Given the description of an element on the screen output the (x, y) to click on. 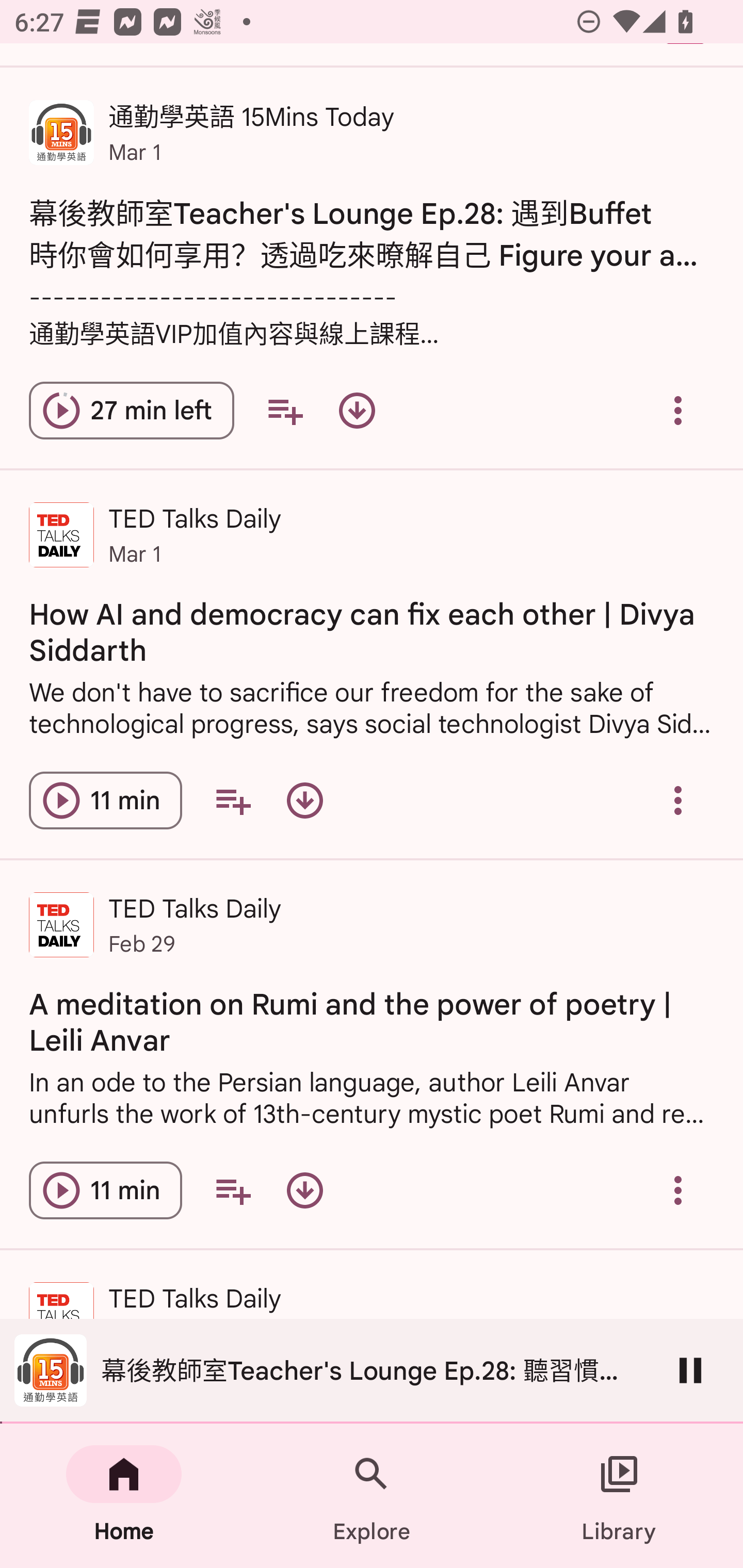
Add to your queue (284, 409)
Download episode (356, 409)
Overflow menu (677, 409)
Add to your queue (232, 800)
Download episode (304, 800)
Overflow menu (677, 800)
Add to your queue (232, 1190)
Download episode (304, 1190)
Overflow menu (677, 1190)
Pause (690, 1370)
Explore (371, 1495)
Library (619, 1495)
